Given the description of an element on the screen output the (x, y) to click on. 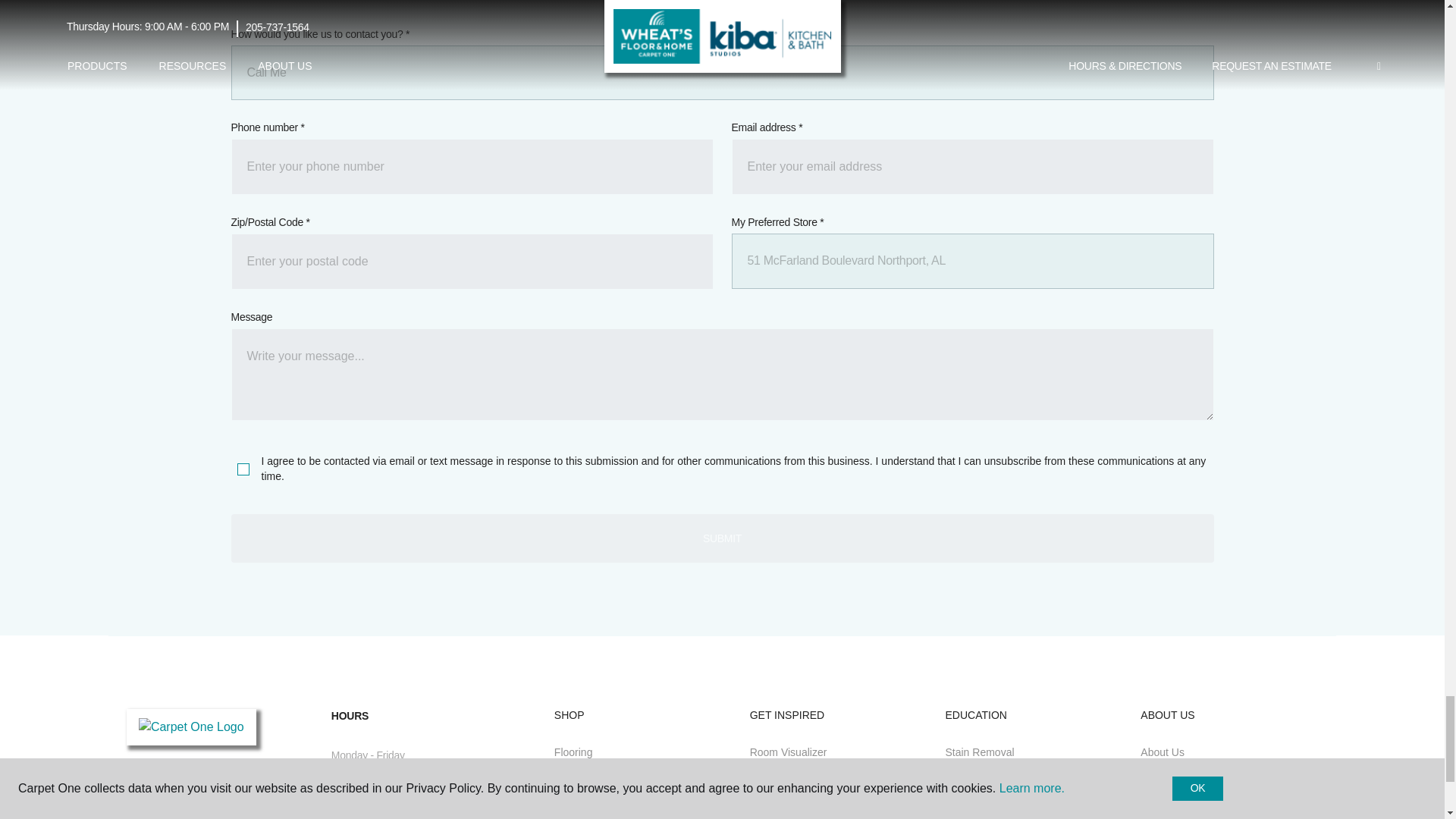
EmailAddress (971, 166)
MyMessage (721, 374)
CleanHomePhone (471, 166)
PostalCode (471, 261)
